Given the description of an element on the screen output the (x, y) to click on. 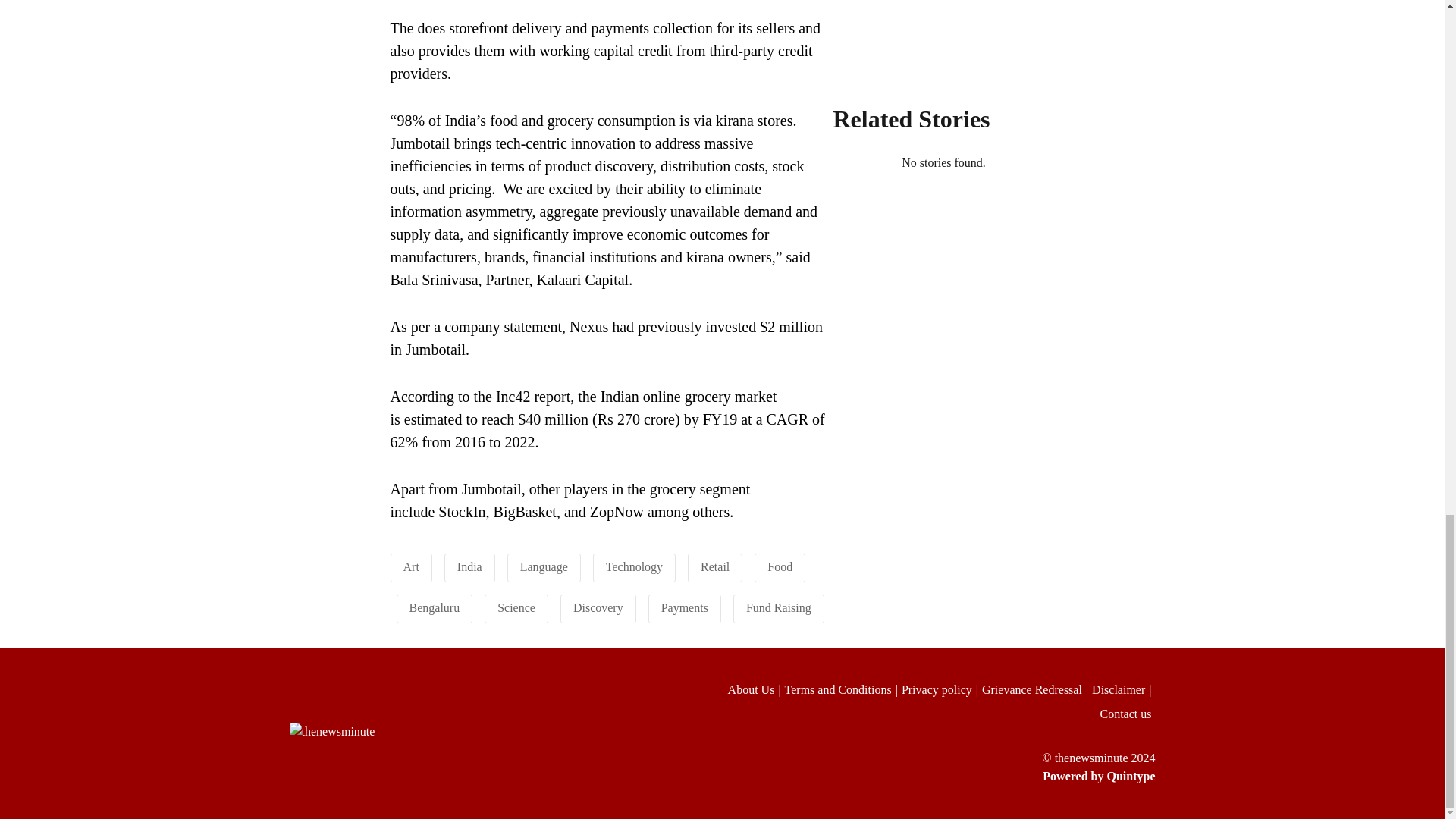
Technology (633, 565)
Terms and Conditions (842, 689)
Payments (684, 606)
Grievance Redressal (1036, 689)
Retail (714, 565)
Fund Raising (777, 606)
Language (543, 565)
Food (779, 565)
India (469, 565)
Art (411, 565)
Privacy policy (941, 689)
About Us (756, 689)
Discovery (598, 606)
Bengaluru (434, 606)
Science (516, 606)
